Given the description of an element on the screen output the (x, y) to click on. 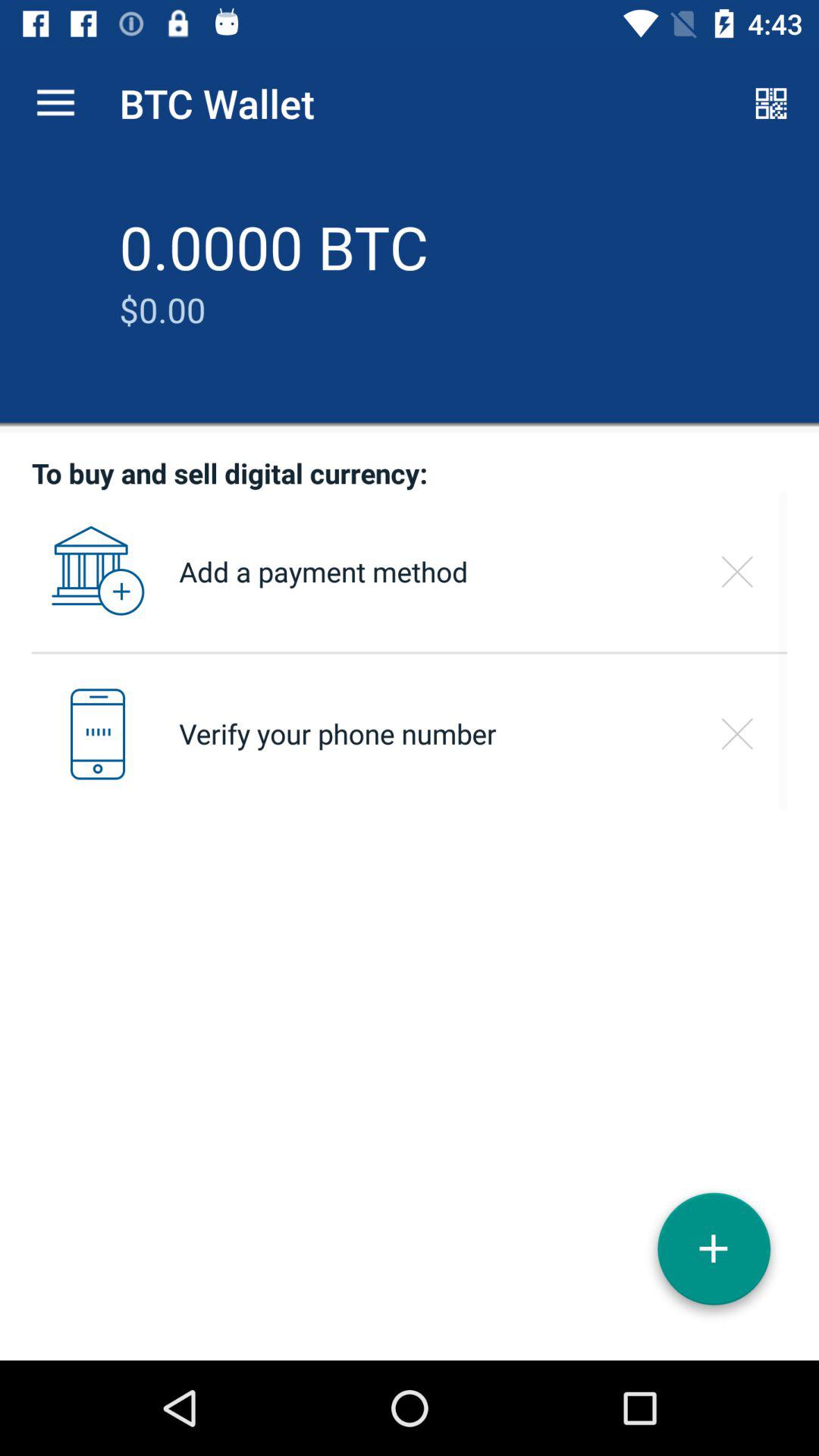
cancel (737, 571)
